Given the description of an element on the screen output the (x, y) to click on. 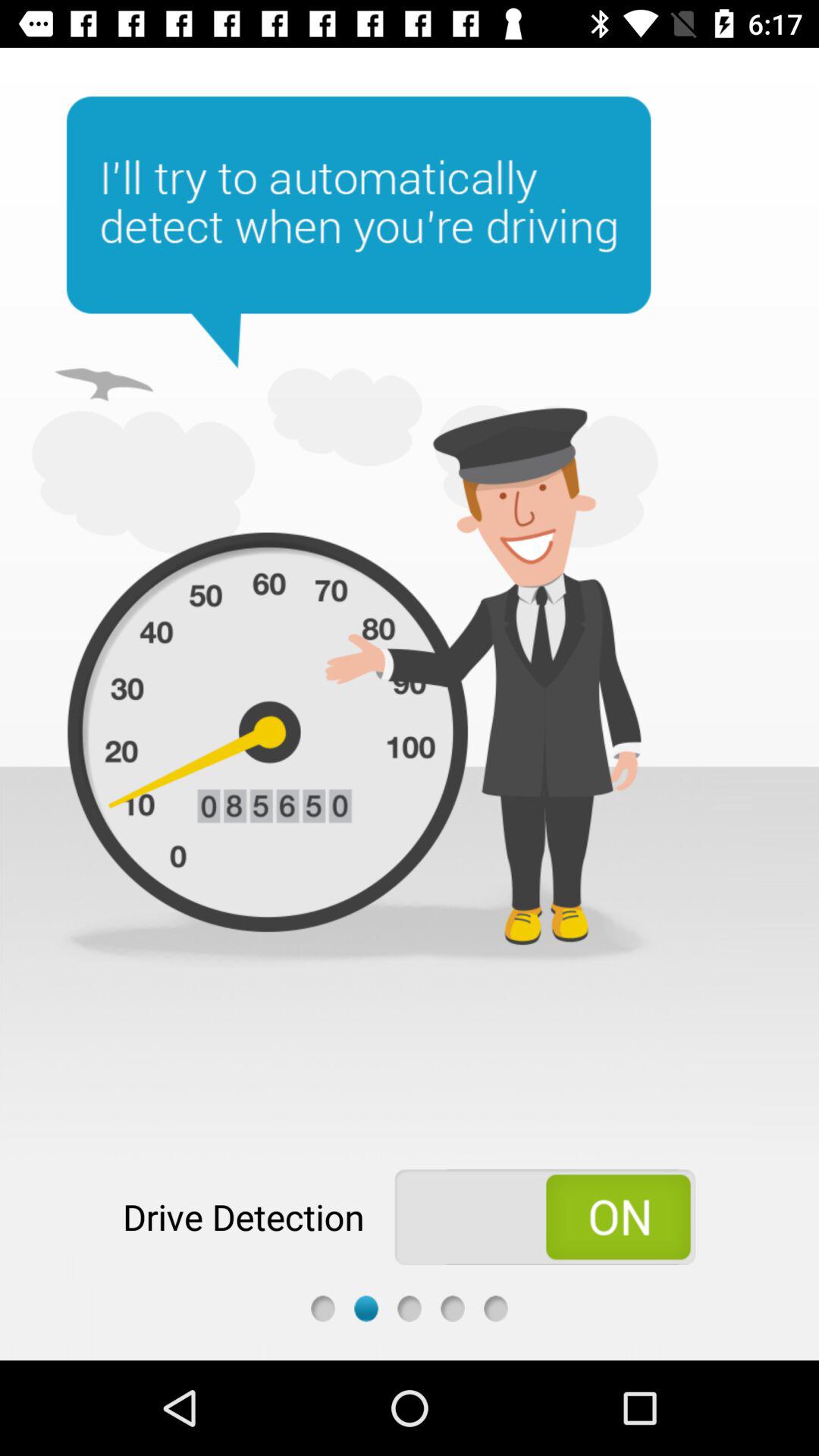
select slide (366, 1308)
